Given the description of an element on the screen output the (x, y) to click on. 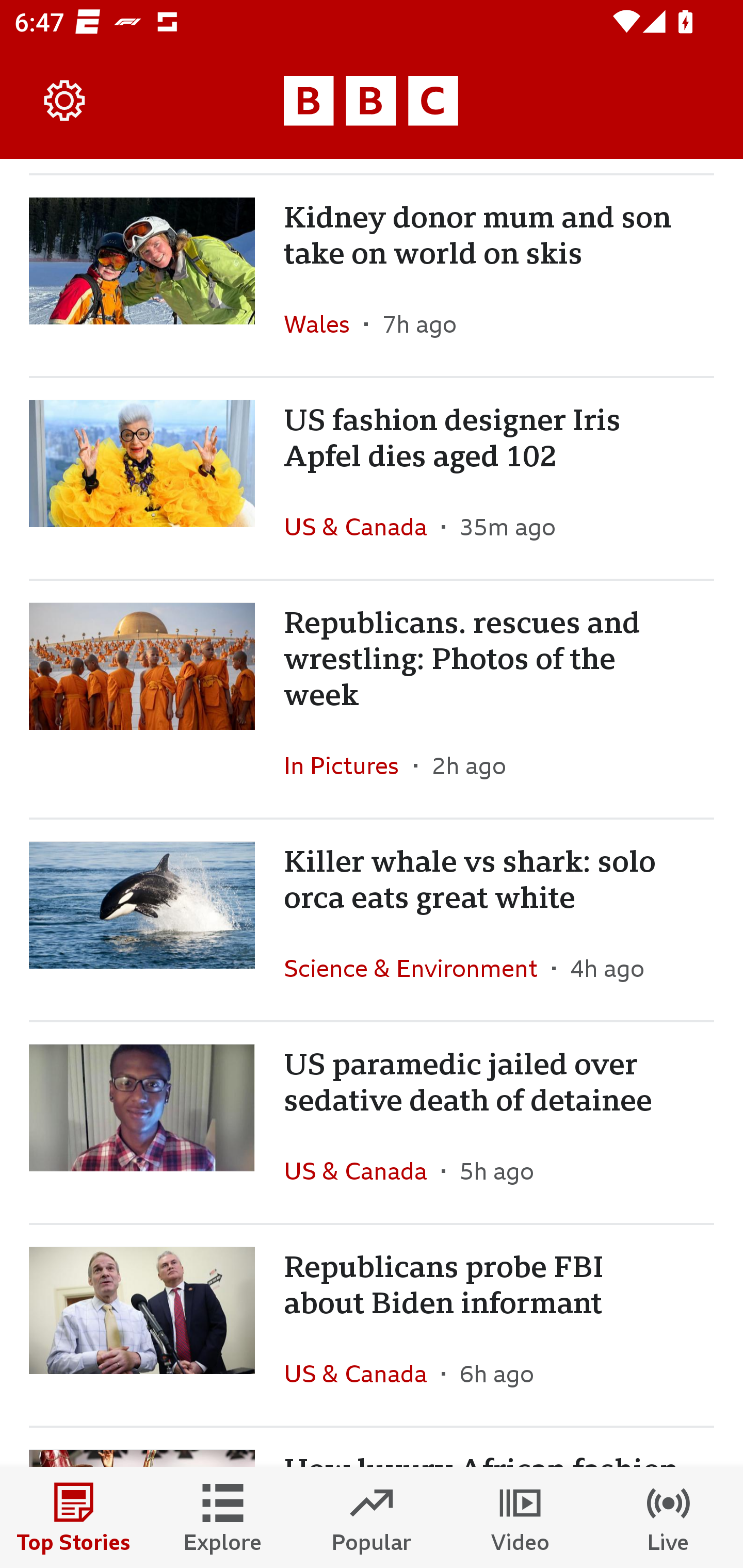
Settings (64, 100)
Wales In the section Wales (323, 323)
US & Canada In the section US & Canada (362, 526)
In Pictures In the section In Pictures (348, 764)
US & Canada In the section US & Canada (362, 1170)
US & Canada In the section US & Canada (362, 1373)
Explore (222, 1517)
Popular (371, 1517)
Video (519, 1517)
Live (668, 1517)
